Given the description of an element on the screen output the (x, y) to click on. 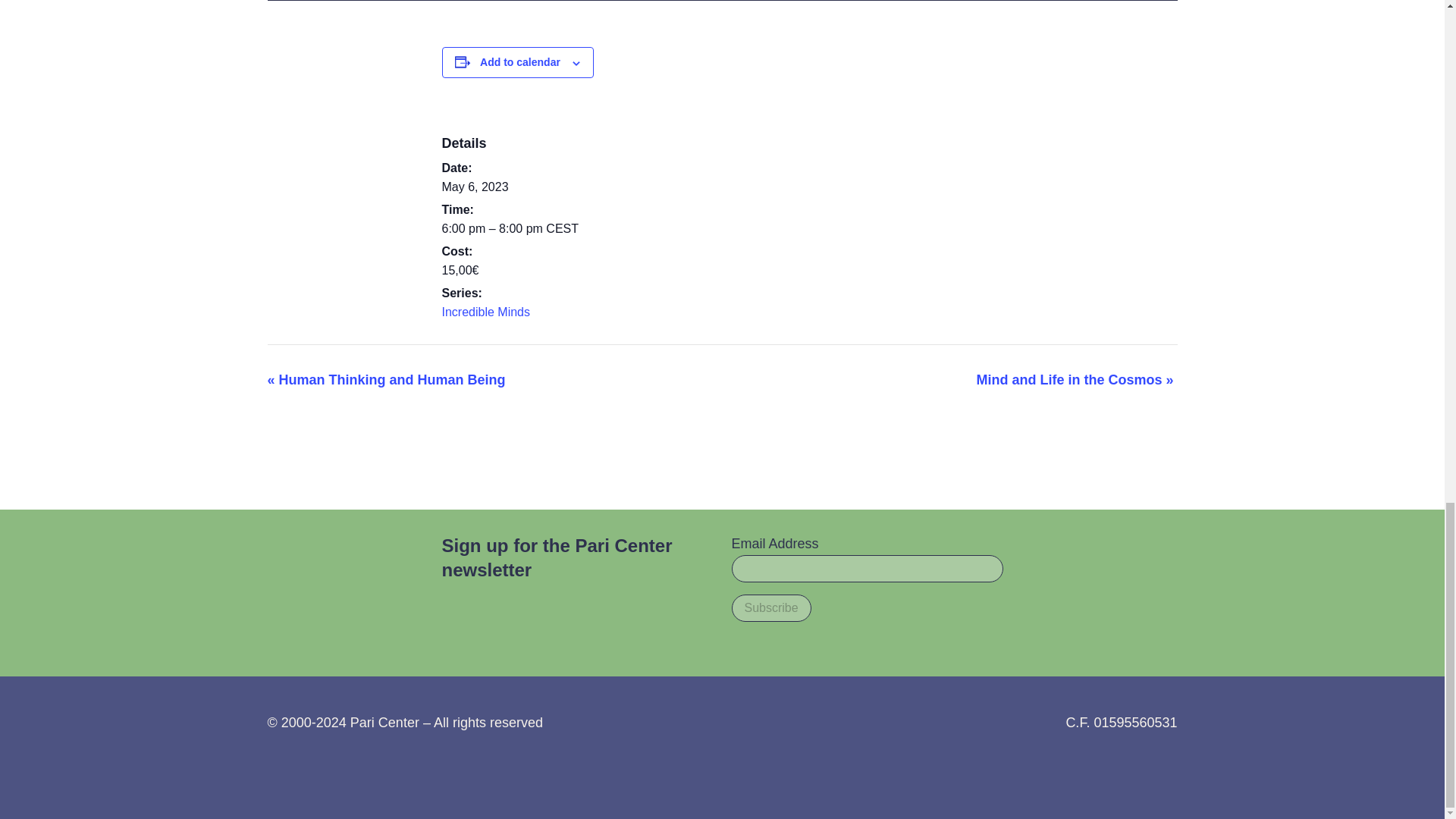
Subscribe (770, 607)
